Given the description of an element on the screen output the (x, y) to click on. 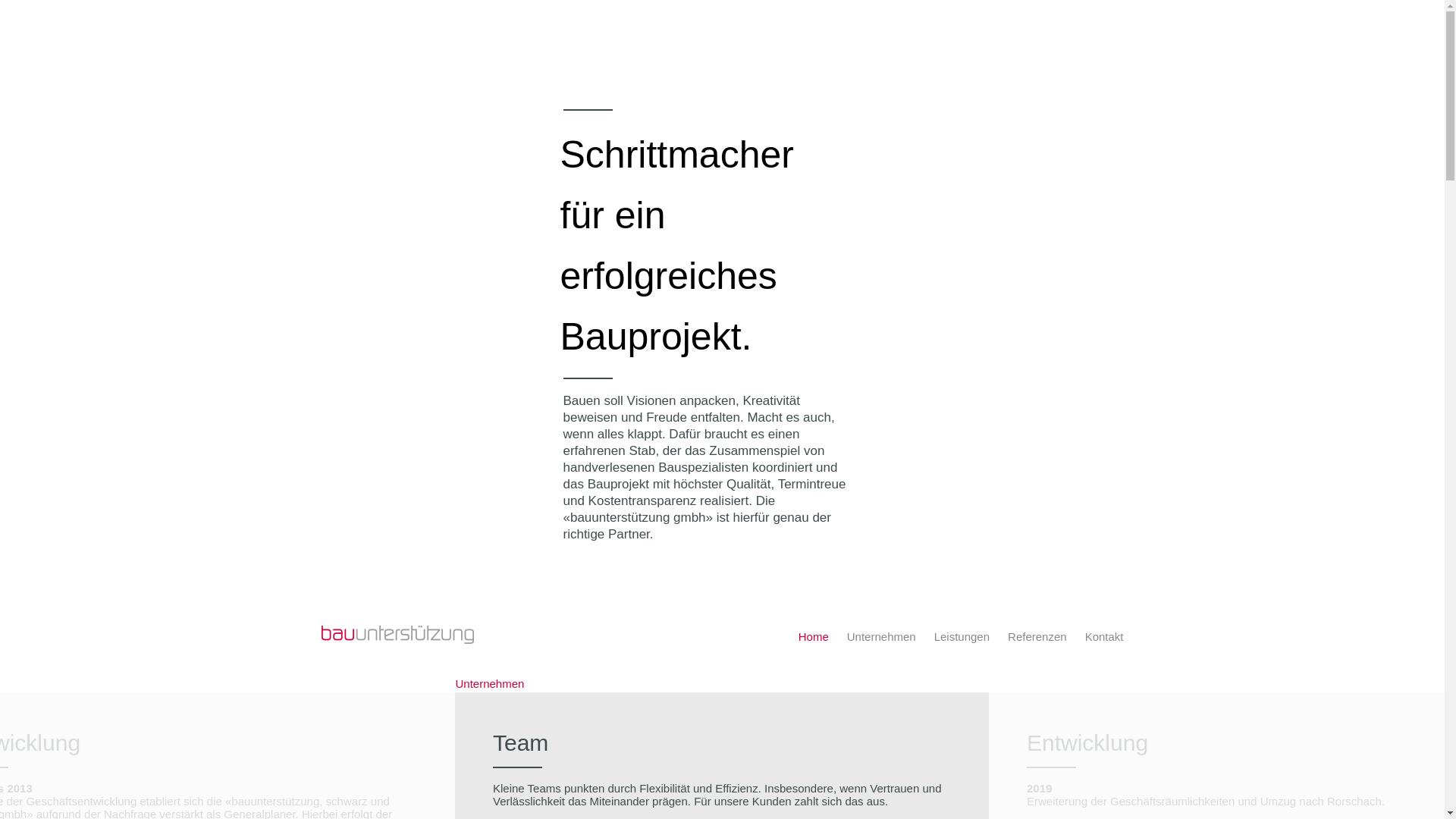
Referenzen Element type: text (1036, 636)
Unternehmen Element type: text (881, 636)
Leistungen Element type: text (961, 636)
Kontakt Element type: text (1104, 636)
Home Element type: text (813, 636)
